Given the description of an element on the screen output the (x, y) to click on. 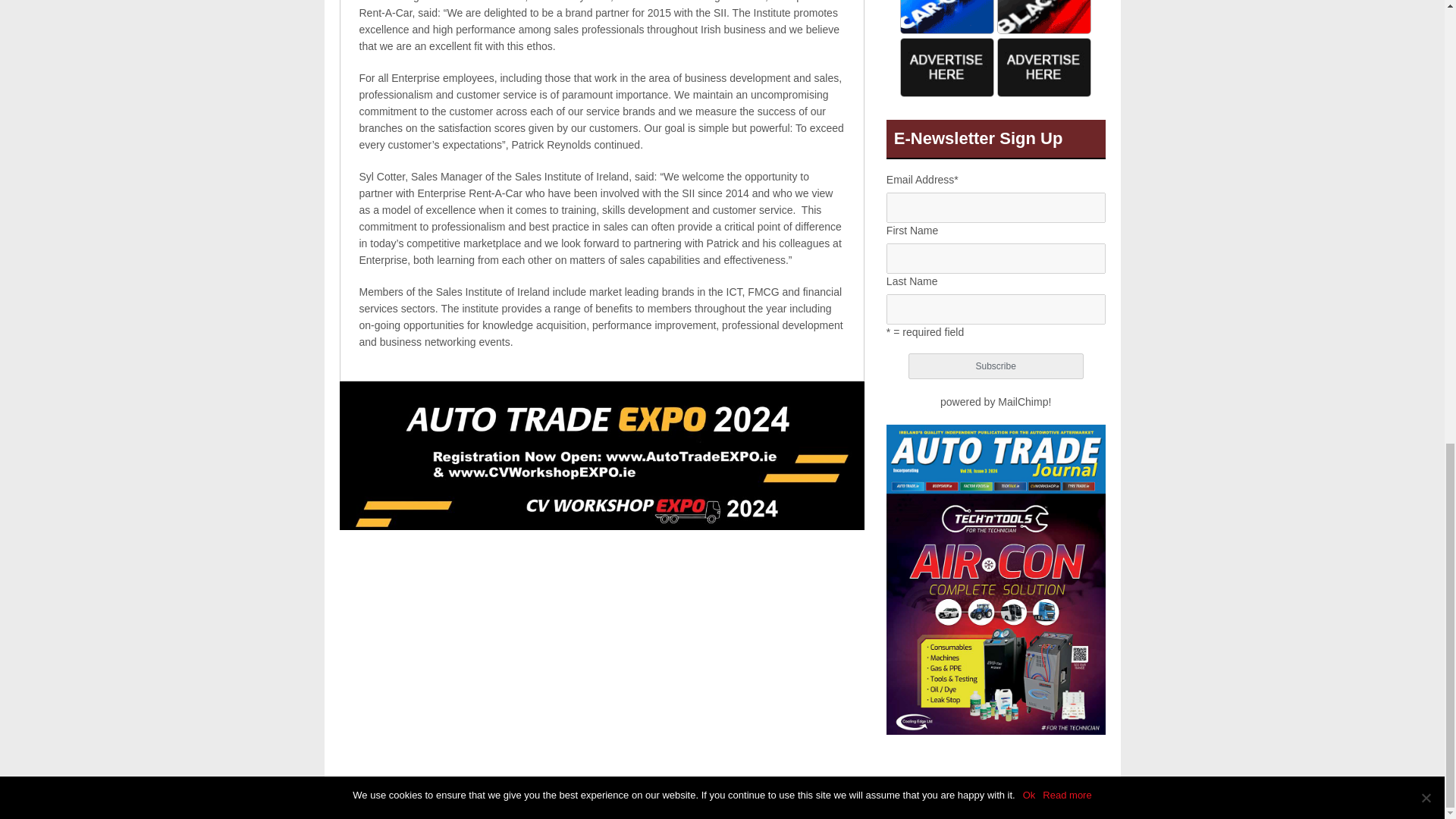
Subscribe (995, 365)
